Given the description of an element on the screen output the (x, y) to click on. 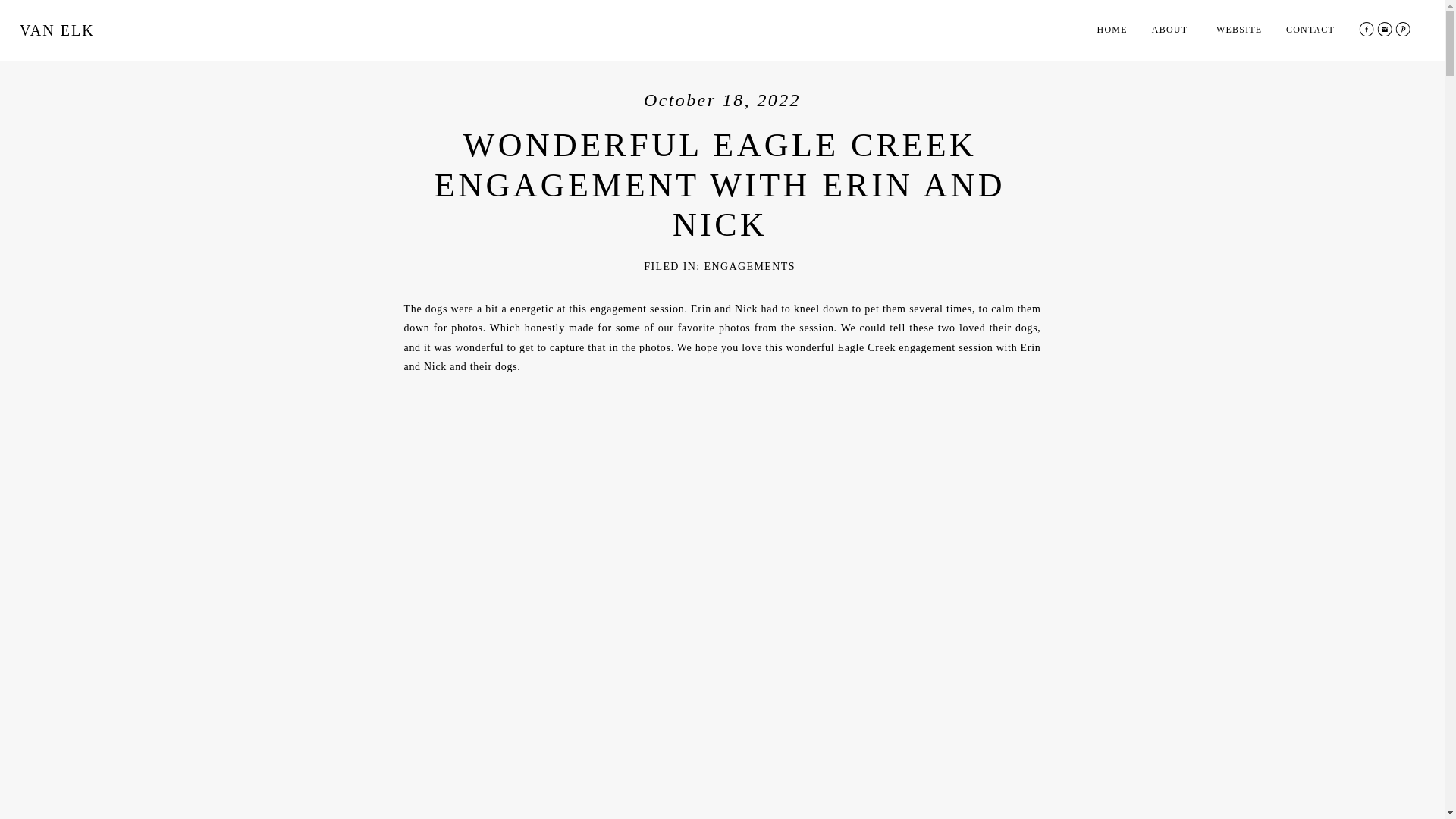
CONTACT (1310, 31)
WEBSITE (1241, 31)
VAN ELK (66, 34)
HOME (1117, 31)
ENGAGEMENTS (749, 266)
ABOUT (1180, 29)
